Given the description of an element on the screen output the (x, y) to click on. 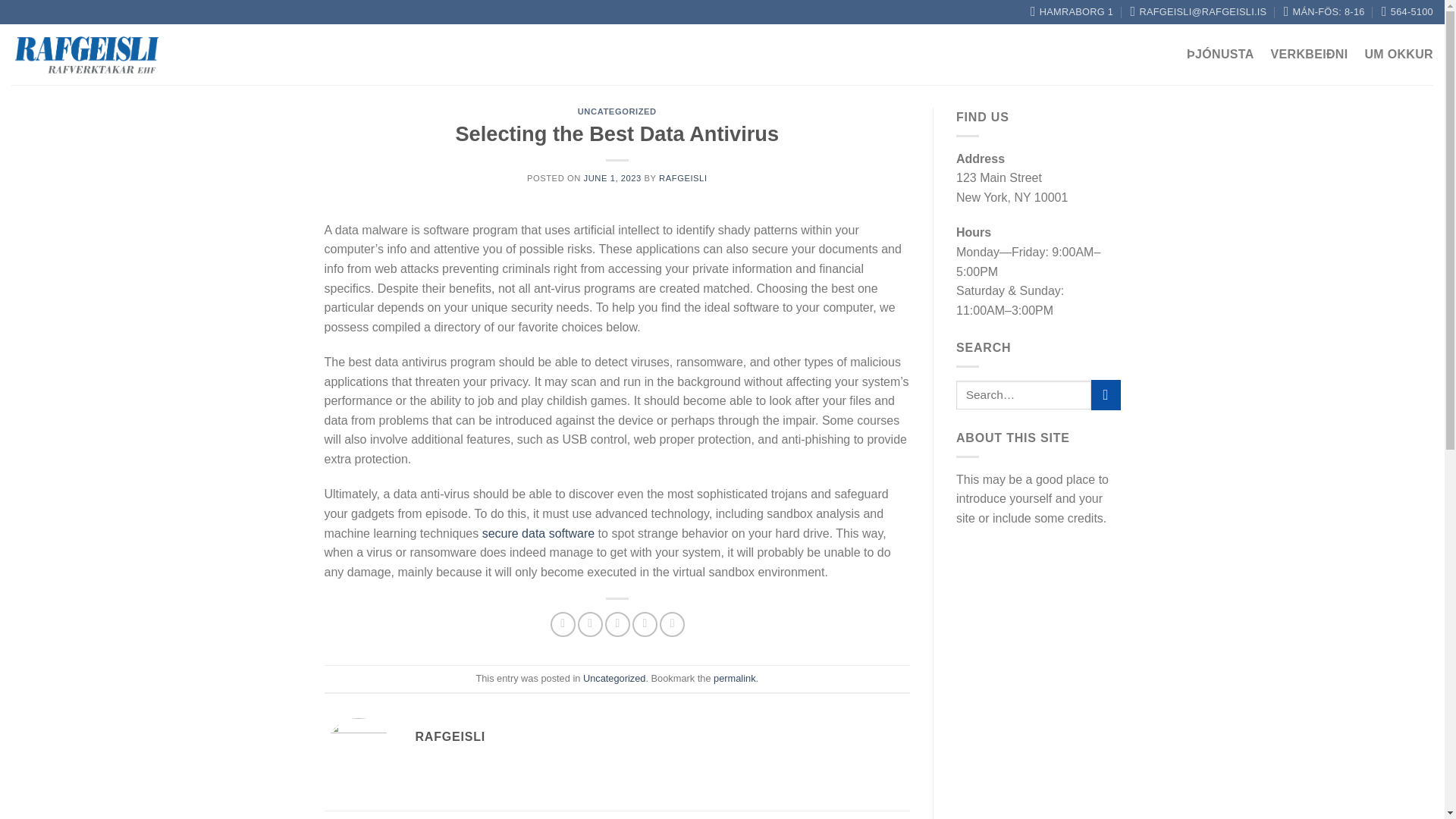
permalink (734, 677)
Permalink to Selecting the Best Data Antivirus (734, 677)
Share on Facebook (562, 624)
HAMRABORG 1 (1071, 12)
UNCATEGORIZED (617, 111)
Share on LinkedIn (671, 624)
Share on Twitter (590, 624)
Email to a Friend (617, 624)
564-5100 (1406, 12)
UM OKKUR (1398, 53)
Uncategorized (614, 677)
564-5100 (1406, 12)
Rafgeisli - Rafverktakar ehf (87, 53)
secure data software (538, 533)
Pin on Pinterest (644, 624)
